Given the description of an element on the screen output the (x, y) to click on. 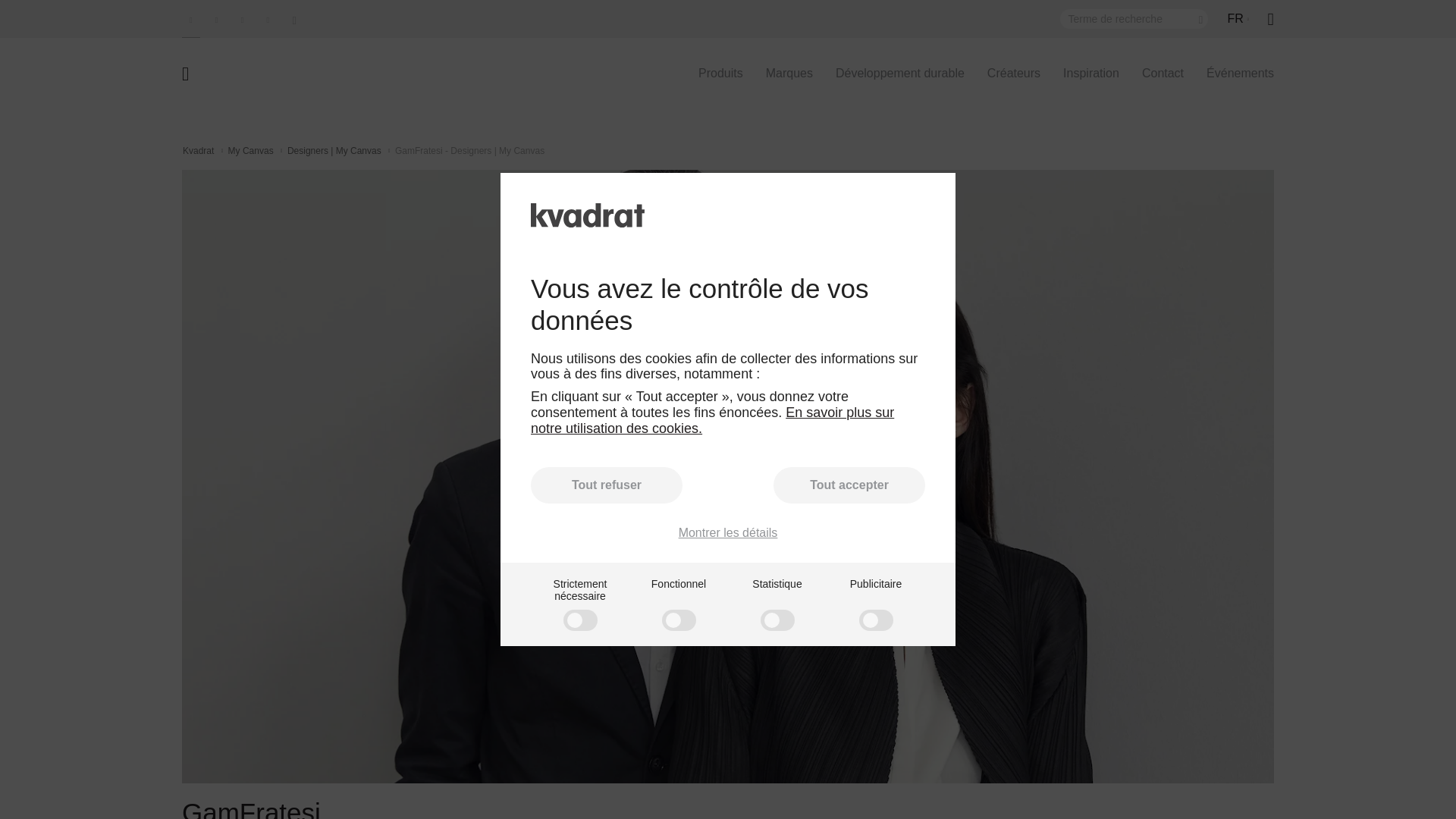
Tout accepter (848, 484)
En savoir plus sur notre utilisation des cookies. (712, 419)
Tout refuser (606, 484)
